Given the description of an element on the screen output the (x, y) to click on. 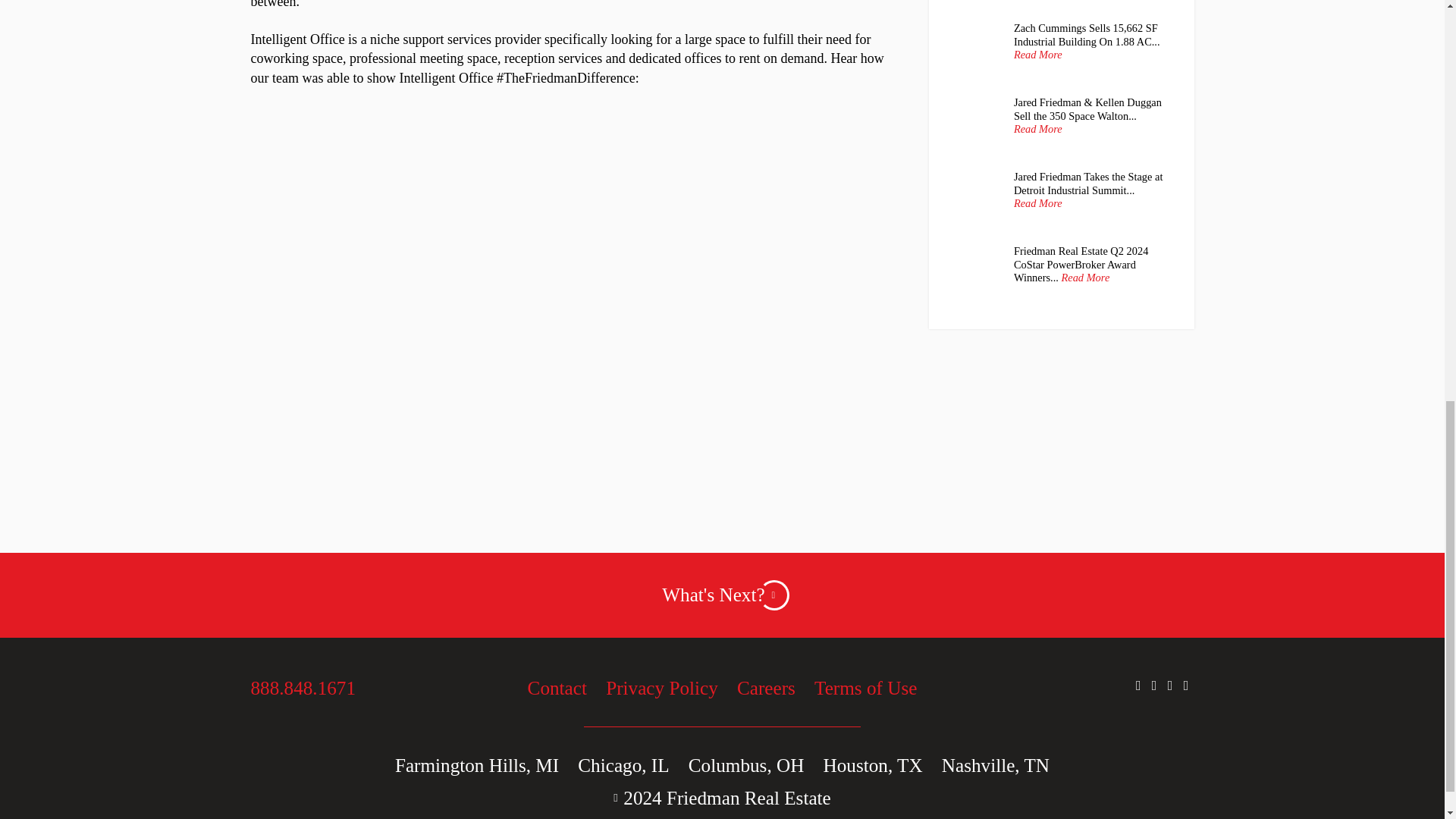
Read More (1037, 203)
Privacy Policy (661, 687)
Contact (556, 687)
Read More (1085, 277)
Read More (1037, 128)
888.848.1671 (318, 687)
Read More (1037, 54)
What's Next? (721, 594)
